Given the description of an element on the screen output the (x, y) to click on. 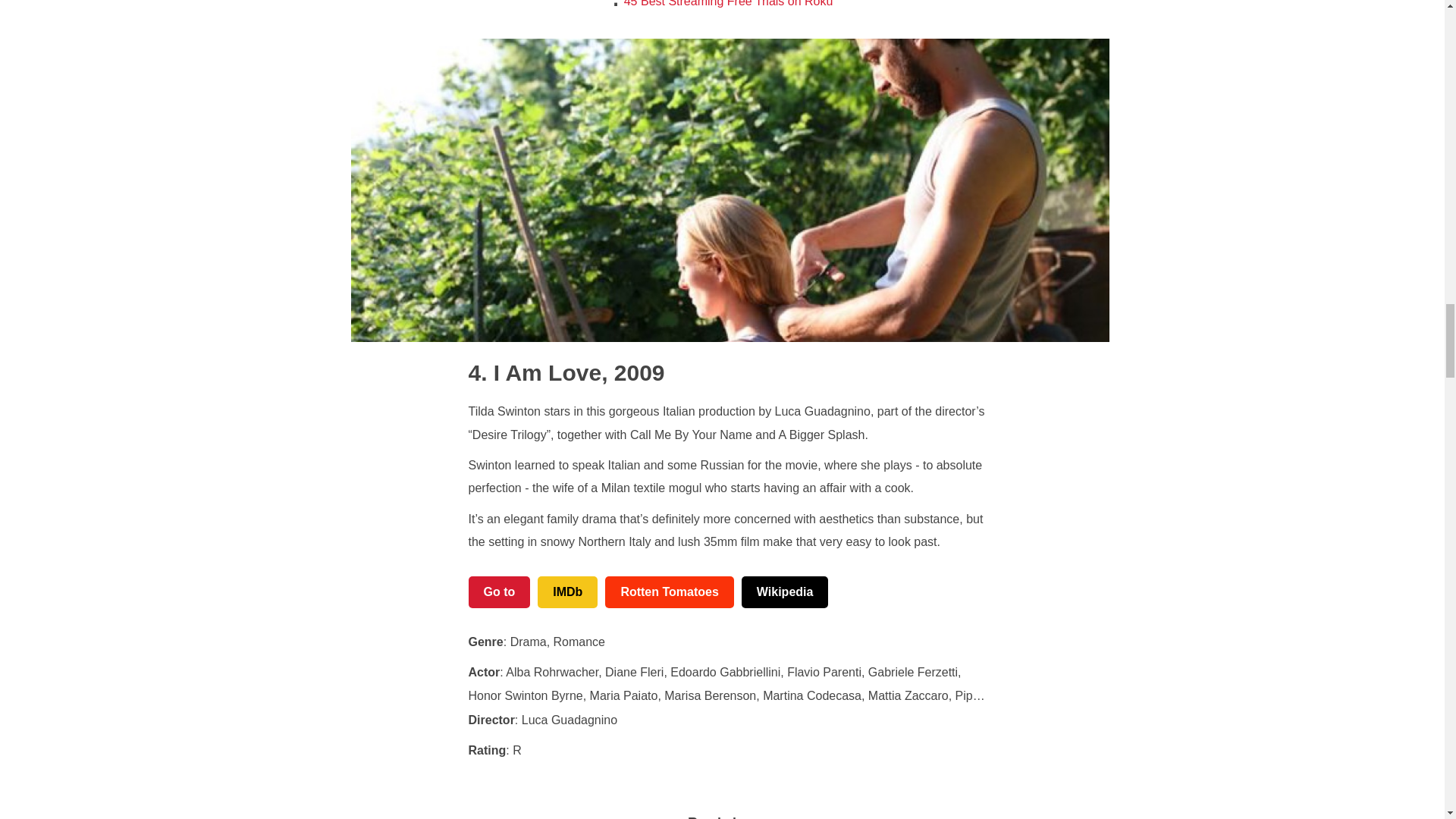
I Am Love (535, 372)
